Given the description of an element on the screen output the (x, y) to click on. 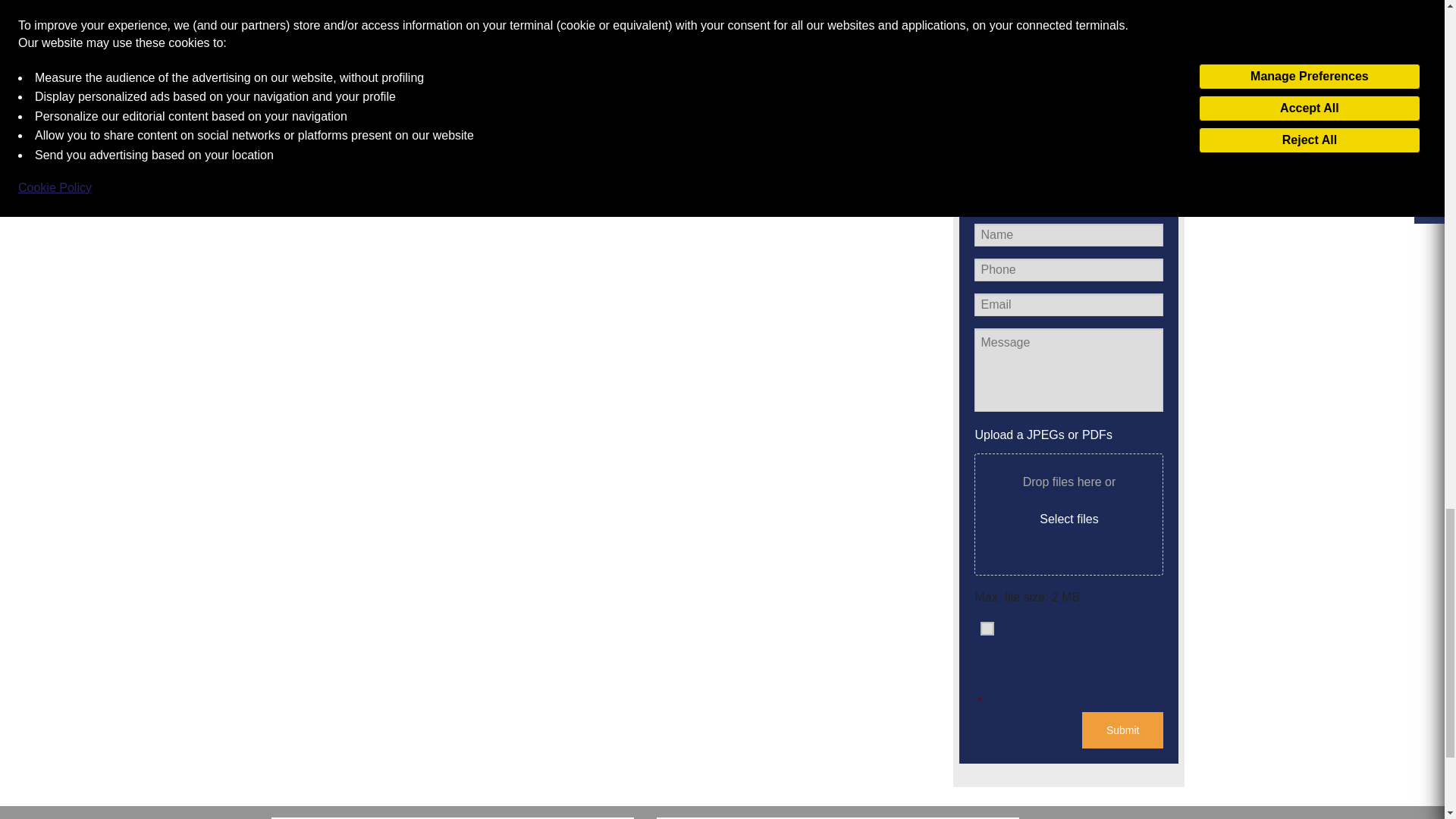
Submit (1122, 729)
Submit (1000, 131)
